Given the description of an element on the screen output the (x, y) to click on. 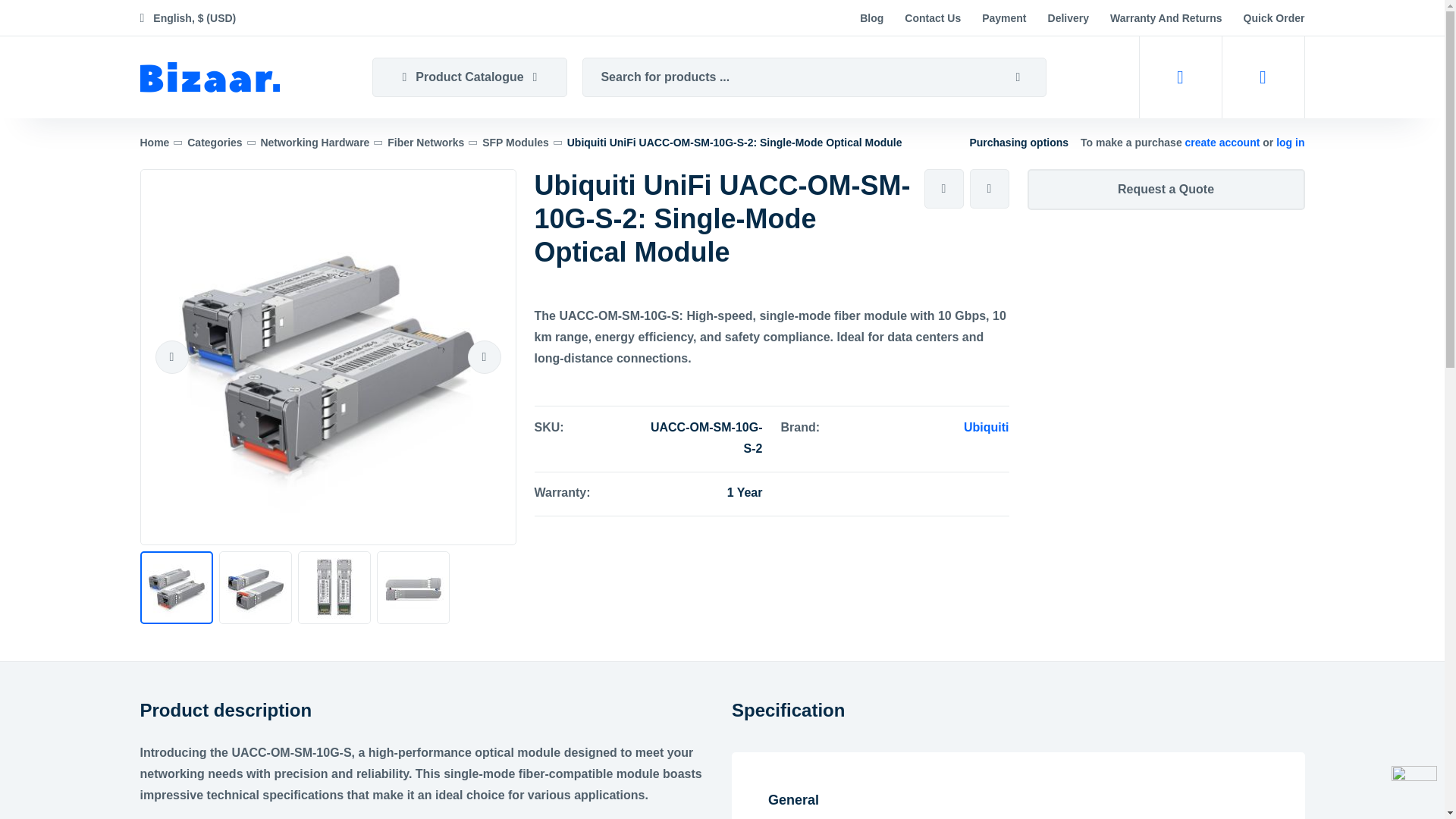
Networking Hardware (314, 142)
Categories (214, 142)
Networking Hardware (314, 142)
Fiber Networks (425, 142)
Payment (1003, 18)
Request a Quote (1165, 188)
SFP Modules (514, 142)
Cart Is Empty (1262, 76)
Warranty And Returns (1166, 18)
Ubiquiti (986, 427)
create account (1224, 142)
Product Catalogue (469, 77)
Categories (214, 142)
